Given the description of an element on the screen output the (x, y) to click on. 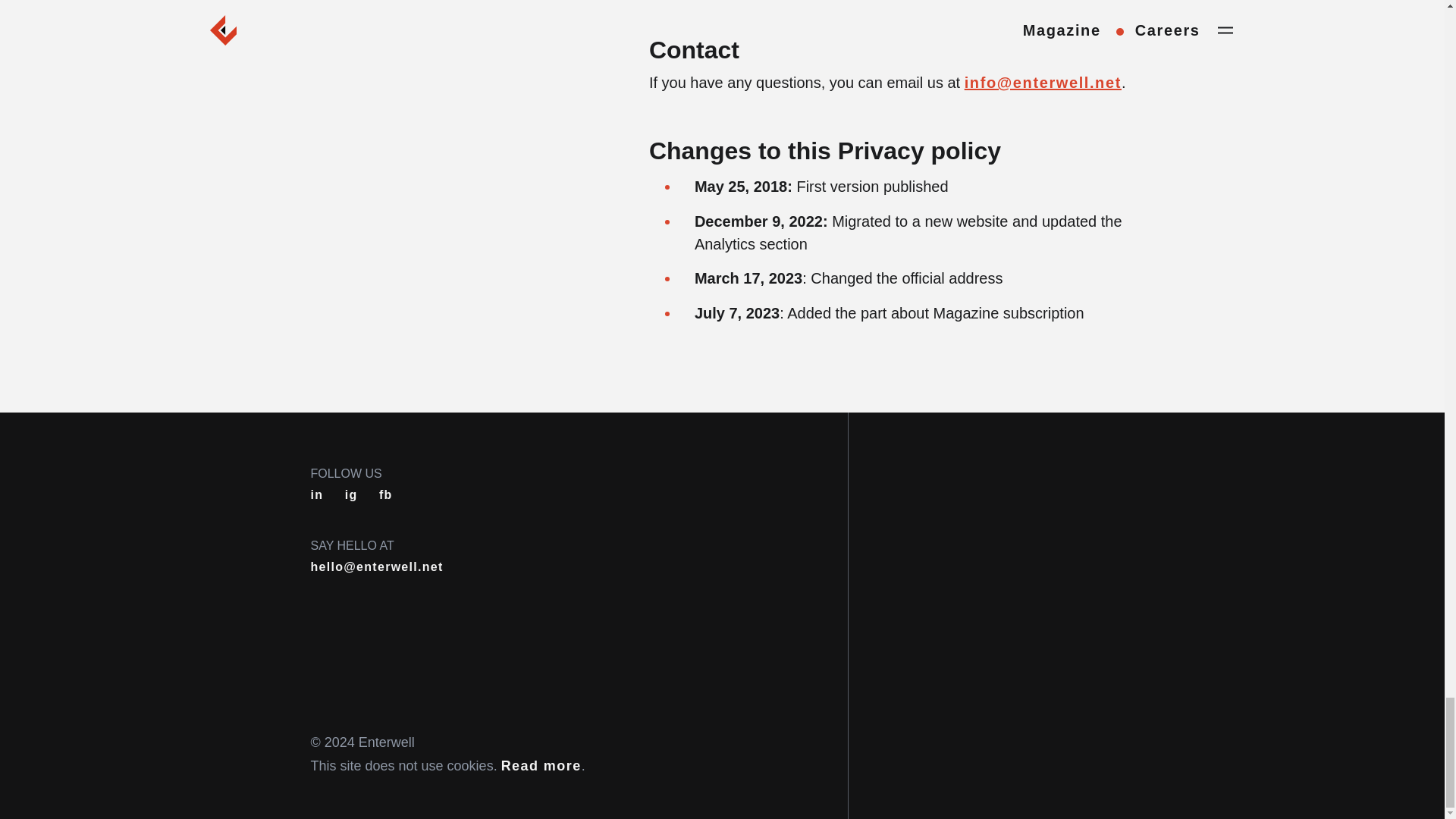
ig (351, 494)
in (317, 494)
Read more (540, 765)
fb (385, 494)
